Given the description of an element on the screen output the (x, y) to click on. 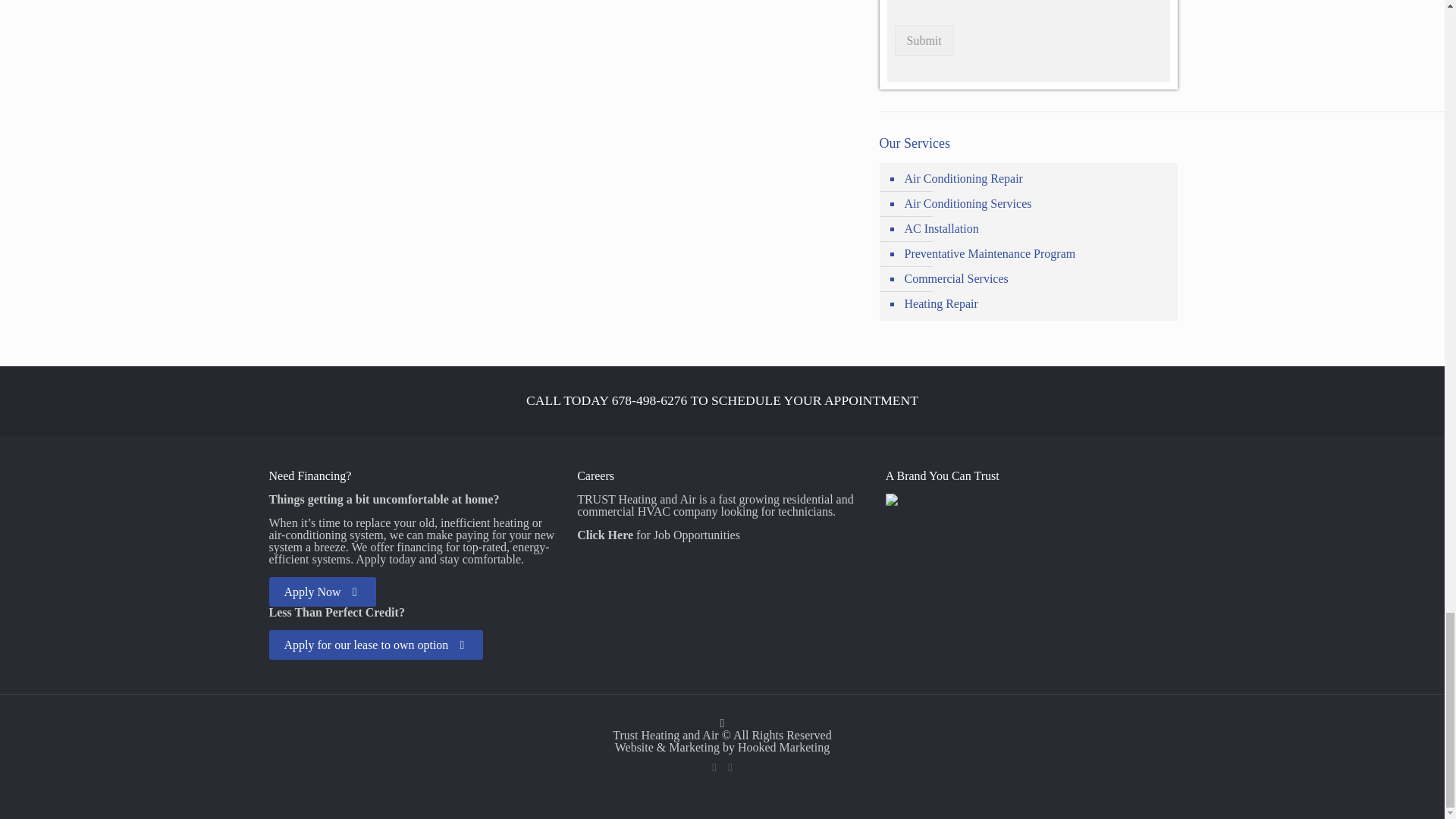
Air Conditioning Services (1036, 204)
Submit (924, 40)
Facebook (713, 767)
Apply Now (321, 591)
Preventative Maintenance Program (1036, 253)
Air Conditioning Repair (1036, 179)
AC Installation (1036, 229)
Apply for our lease to own option (375, 644)
Commercial Services (1036, 278)
Heating Repair (1036, 303)
